Given the description of an element on the screen output the (x, y) to click on. 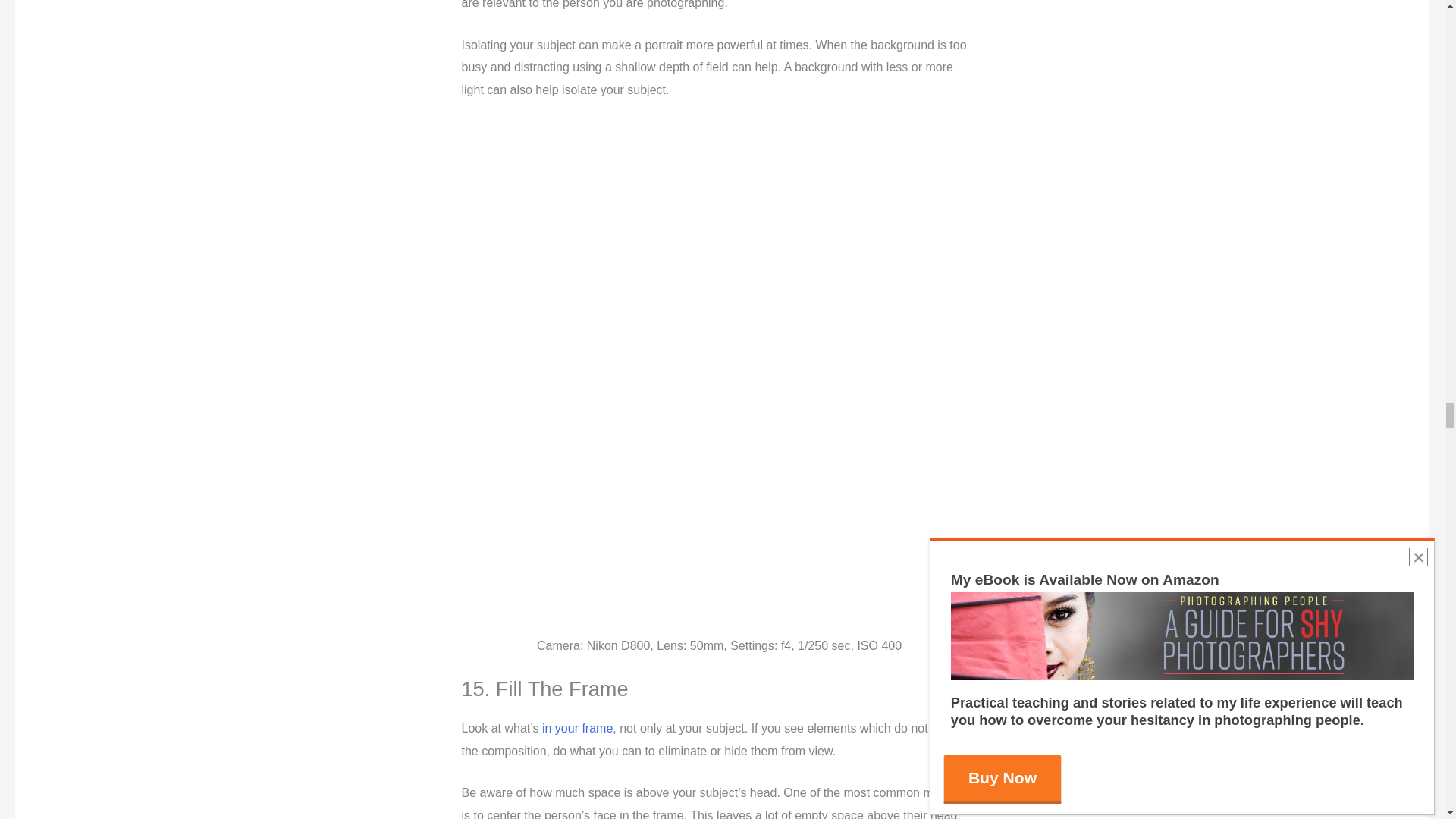
in your frame (575, 727)
